Given the description of an element on the screen output the (x, y) to click on. 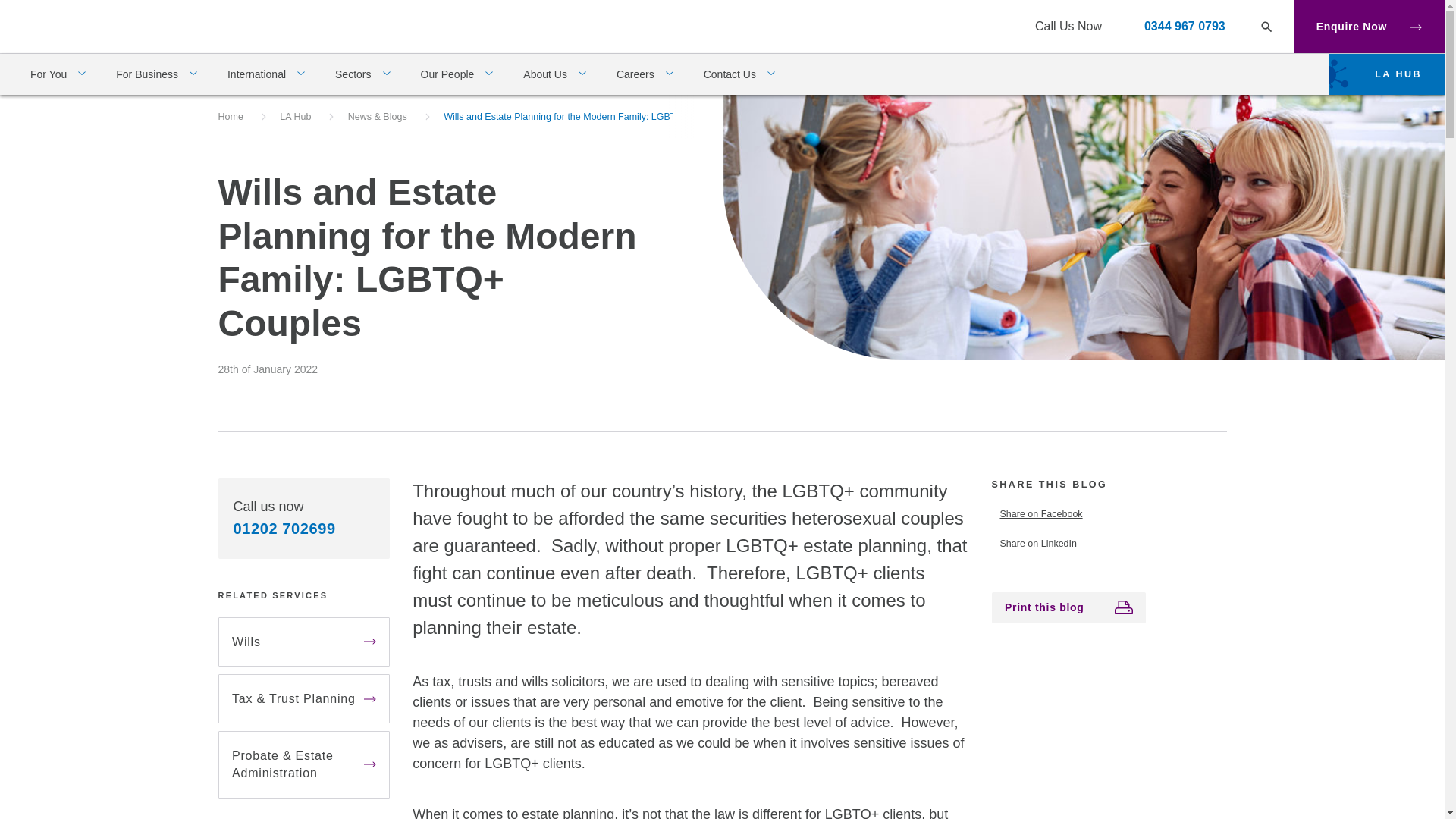
Home Page (79, 24)
For You (57, 74)
Share to LinkedIn (1109, 544)
0344 967 0793 (1184, 26)
Share to Facebook (1109, 513)
Call us (1184, 26)
